Given the description of an element on the screen output the (x, y) to click on. 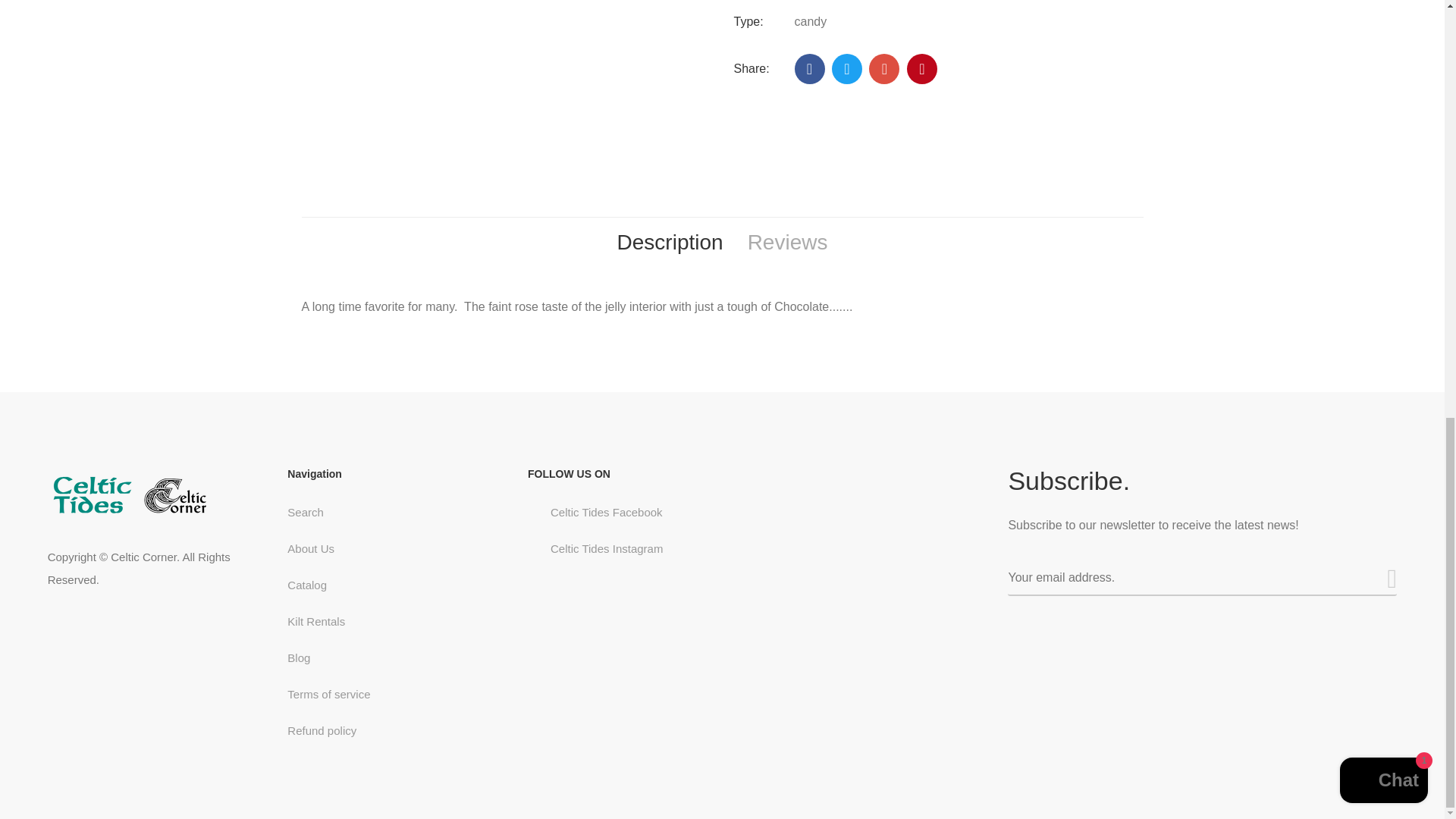
Follow us on Facebook (809, 69)
Follow us on Twitter (846, 69)
Follow us on Pinterest (922, 69)
